Given the description of an element on the screen output the (x, y) to click on. 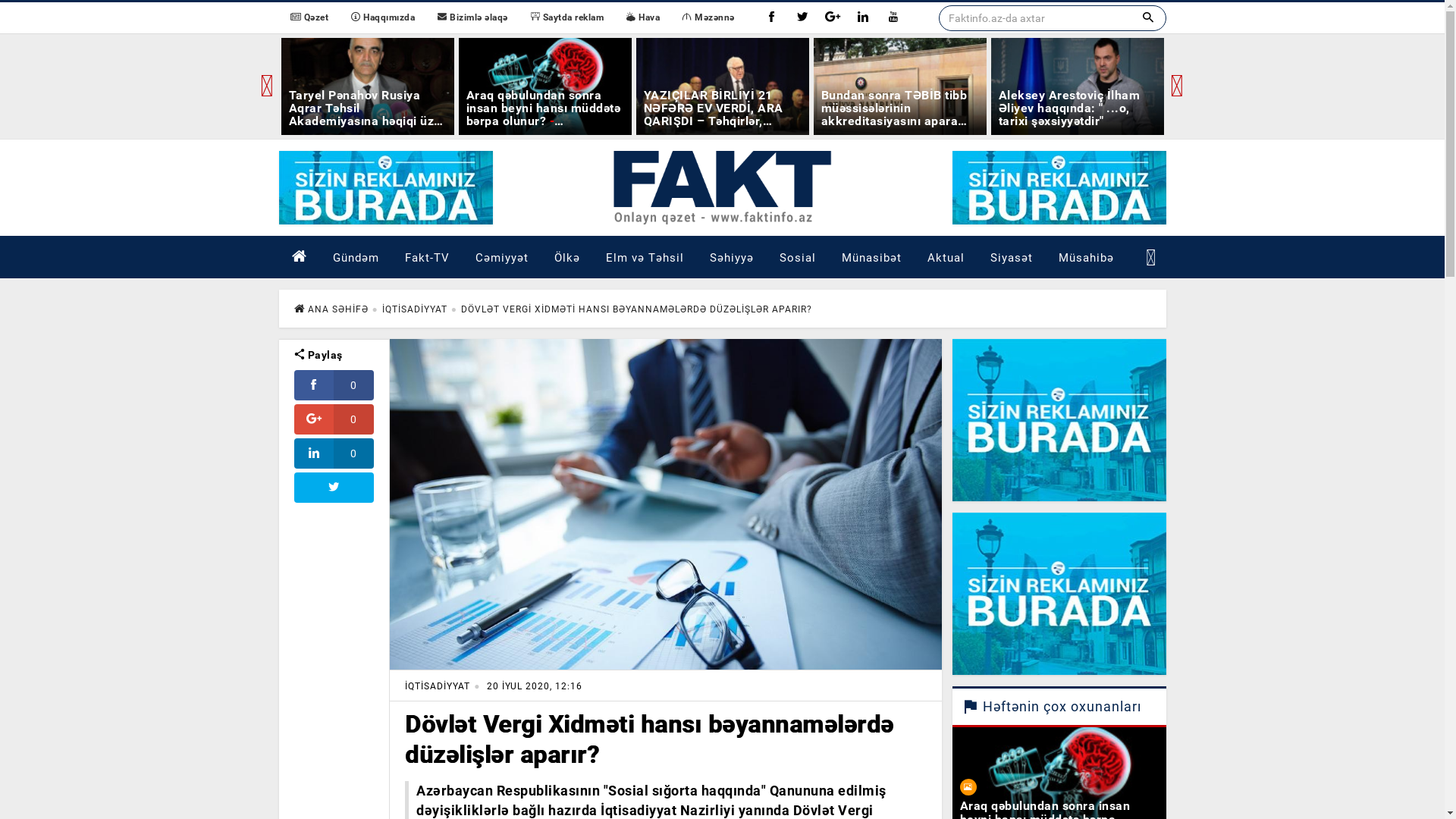
Fakt-TV Element type: text (426, 256)
0 Element type: text (333, 419)
0 Element type: text (333, 453)
Google+ Element type: hover (832, 17)
Faktinfo.az Element type: hover (721, 187)
YouTube Element type: hover (893, 17)
Twitter Element type: hover (802, 17)
 Hava Element type: text (643, 17)
Aktual Element type: text (945, 256)
 Saytda reklam Element type: text (566, 17)
Linkedin Element type: hover (862, 17)
Facebook Element type: hover (771, 17)
0 Element type: text (333, 385)
Sosial Element type: text (796, 256)
